Given the description of an element on the screen output the (x, y) to click on. 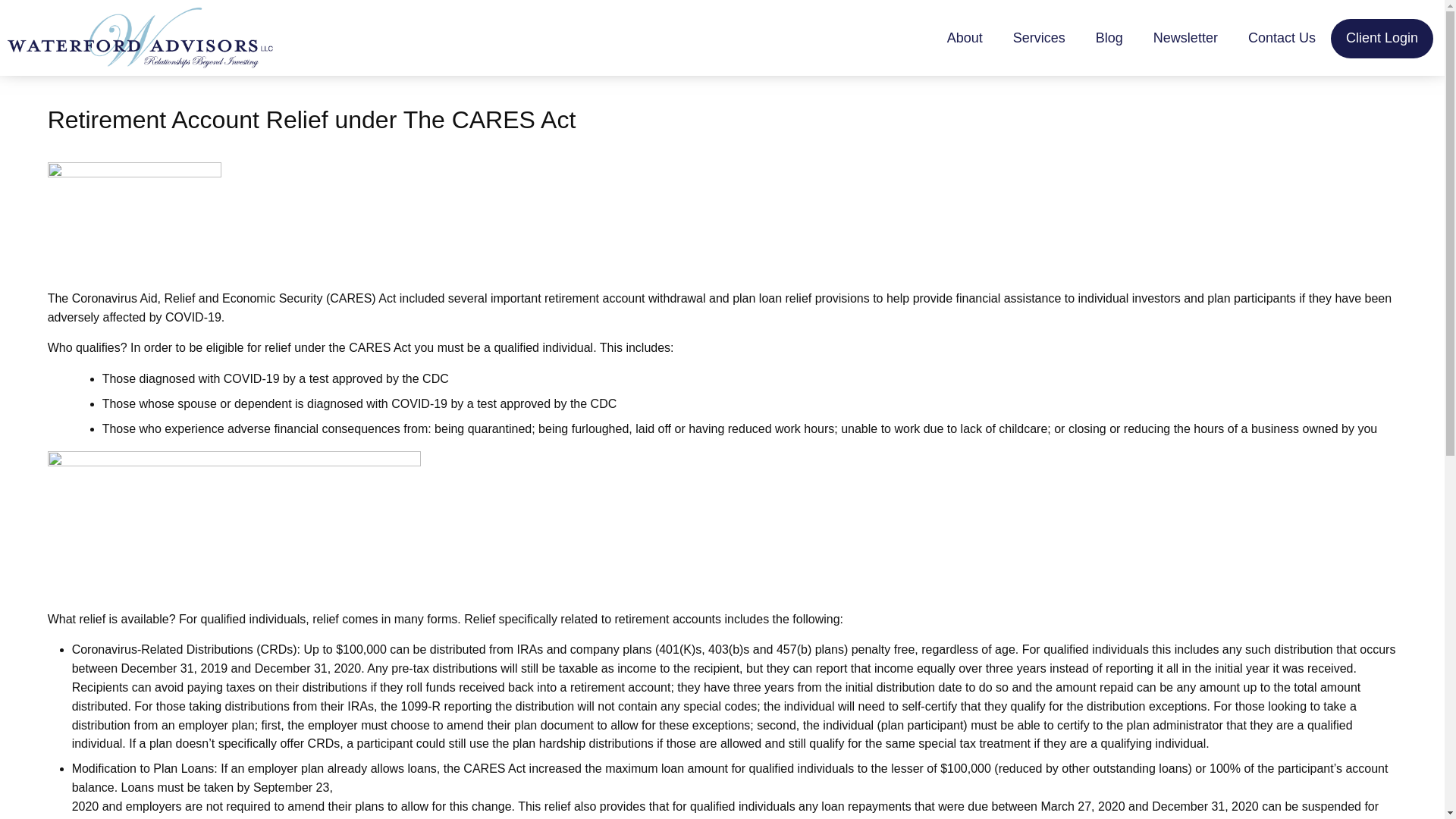
Contact Us (1281, 38)
About (964, 38)
Newsletter (1185, 38)
Blog (1109, 38)
Client Login (1381, 38)
Services (1038, 38)
